Given the description of an element on the screen output the (x, y) to click on. 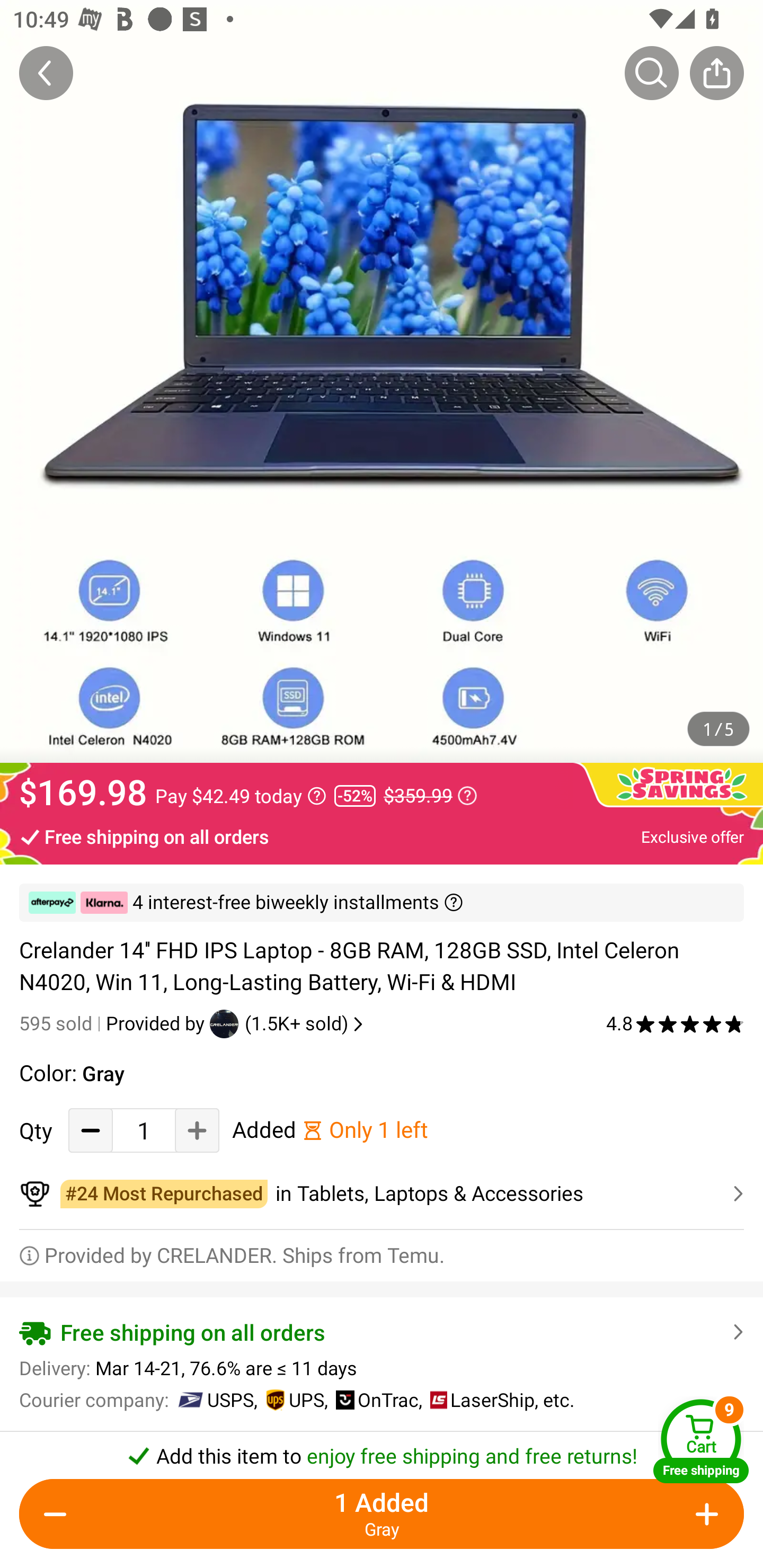
Back (46, 72)
Share (716, 72)
Pay $42.49 today   (240, 795)
Free shipping on all orders Exclusive offer (381, 836)
￼ ￼ 4 interest-free biweekly installments ￼ (381, 902)
595 sold Provided by  (114, 1023)
4.8 (674, 1023)
Decrease Quantity Button (90, 1130)
1 (143, 1130)
Add Quantity button (196, 1130)
￼￼in Tablets, Laptops & Accessories (381, 1193)
Cart Free shipping Cart (701, 1440)
Decrease Quantity Button (59, 1513)
Add Quantity button (703, 1513)
